Given the description of an element on the screen output the (x, y) to click on. 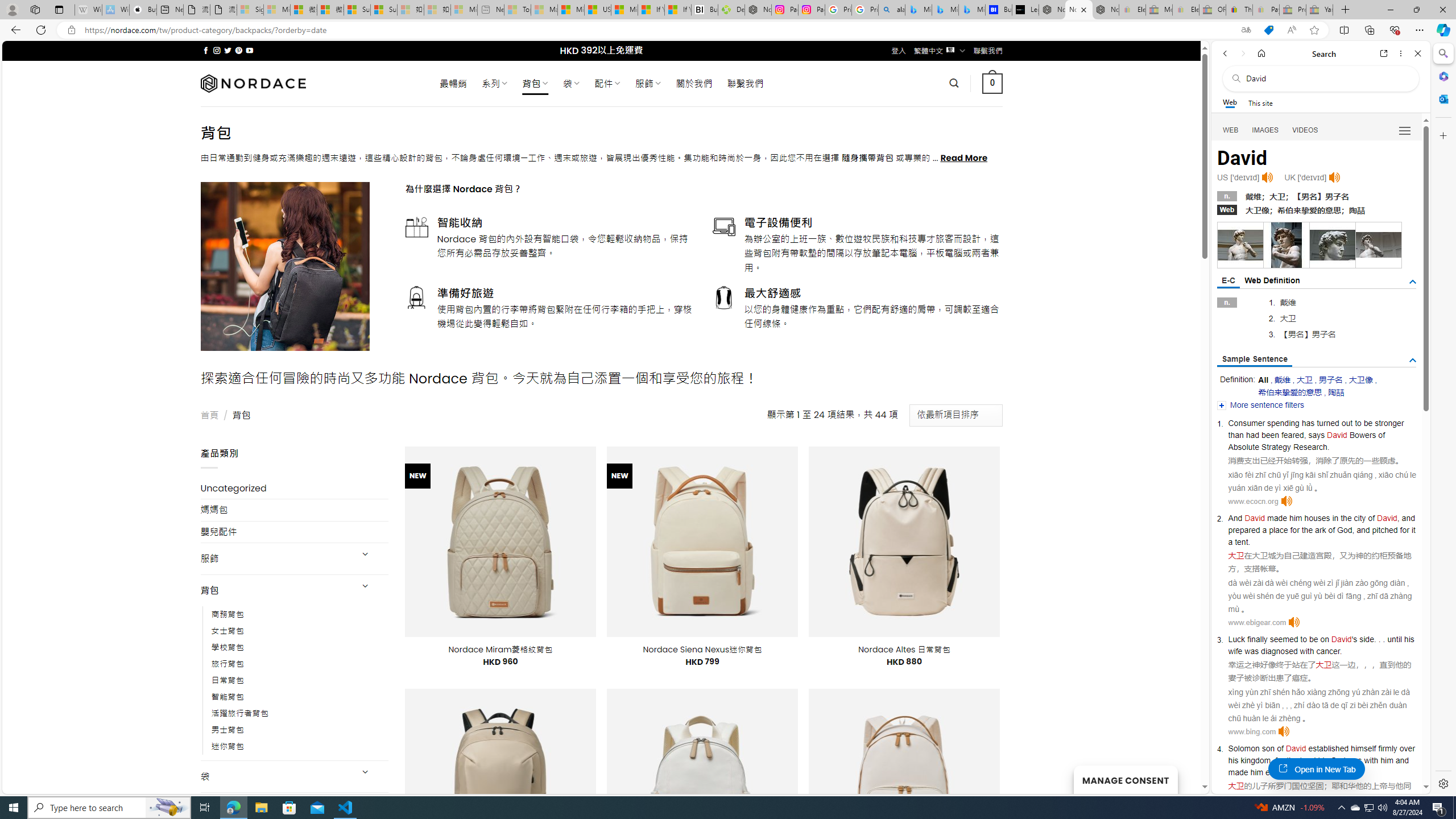
  0   (992, 83)
AutomationID: emb24E78E1D3 (1332, 244)
This site has coupons! Shopping in Microsoft Edge (1268, 29)
was (1354, 759)
VIDEOS (1304, 130)
